Given the description of an element on the screen output the (x, y) to click on. 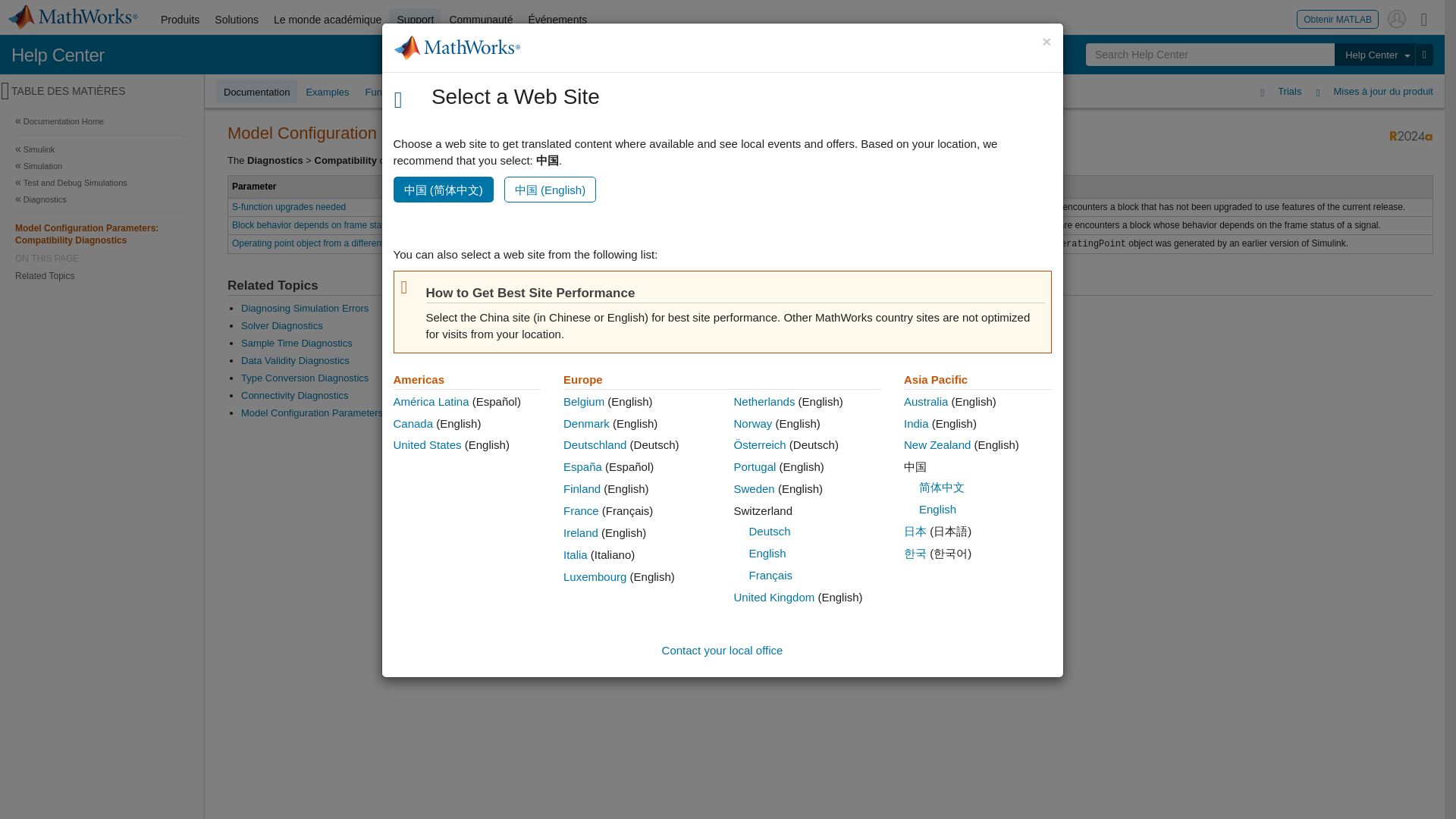
Produits (179, 19)
Support (414, 19)
Solutions (236, 19)
Se connecter (1396, 18)
Matrix Menu (1423, 18)
ON THIS PAGE (100, 258)
Obtenir MATLAB (1337, 18)
Model Configuration Parameters: Compatibility Diagnostics (100, 233)
